Given the description of an element on the screen output the (x, y) to click on. 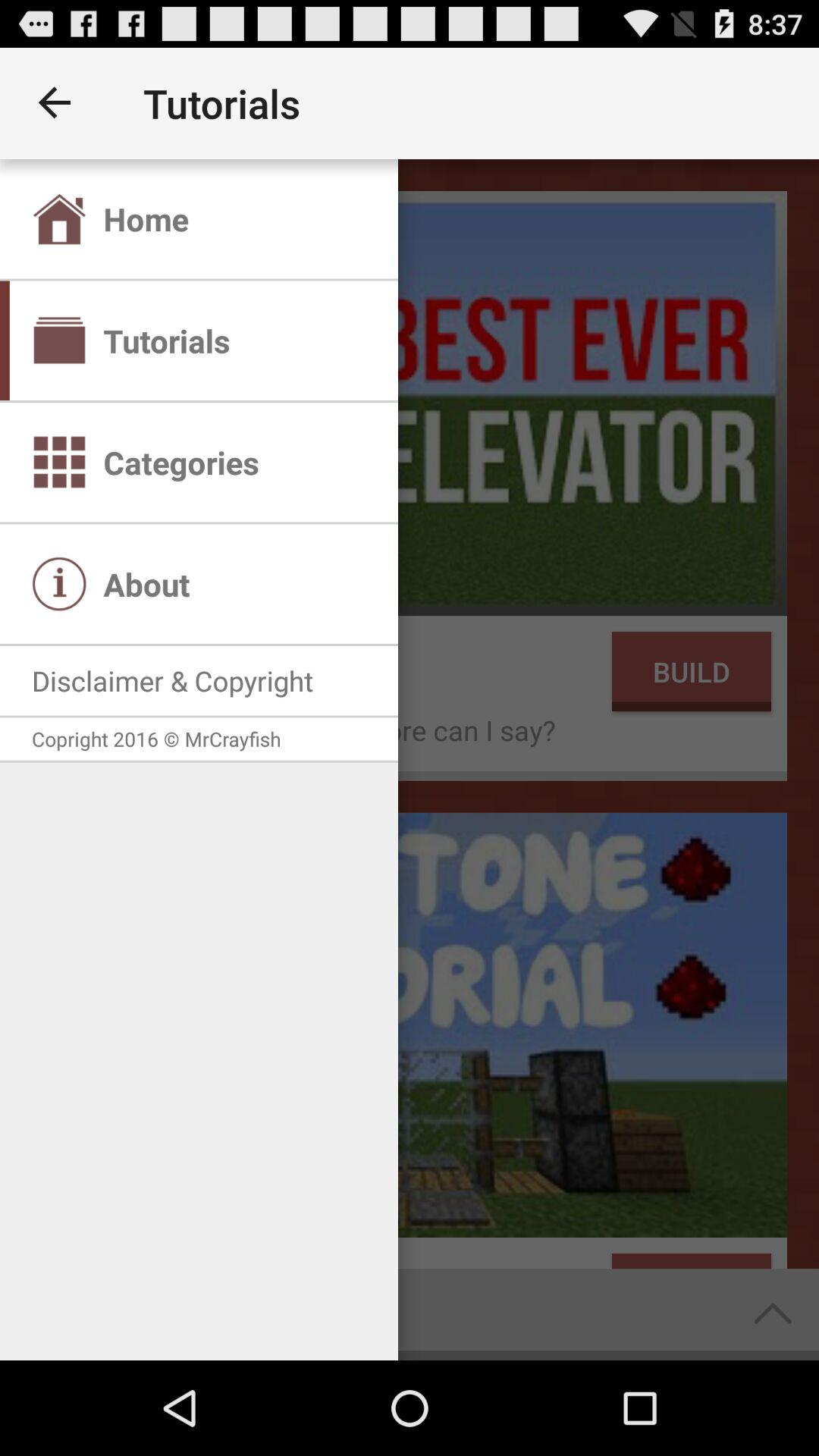
click on symbol left to categories (59, 461)
